Given the description of an element on the screen output the (x, y) to click on. 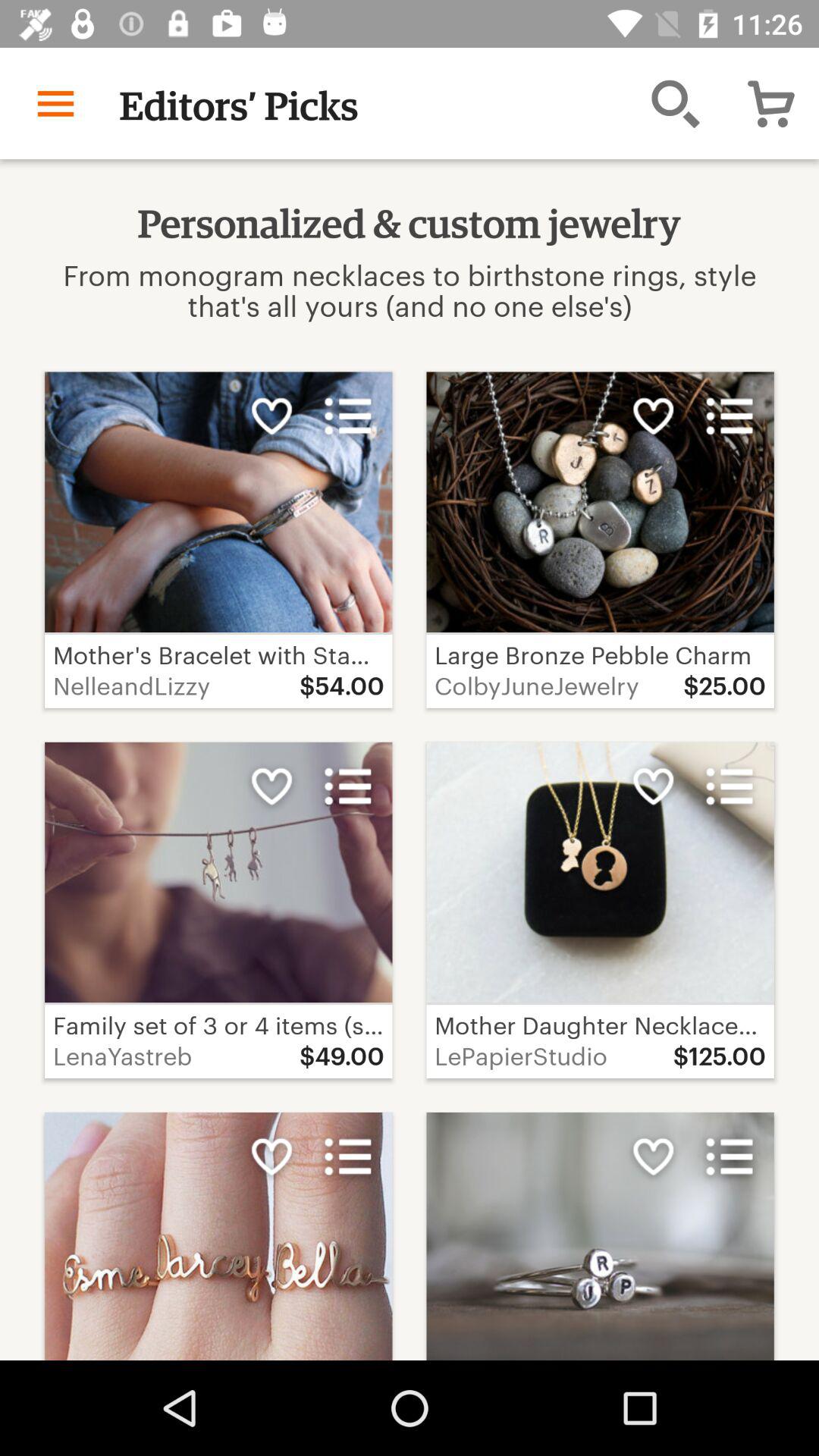
click on the last right image (219, 1235)
click on first image in second row from left side (219, 910)
click on the button which is left side of the cart (675, 103)
click menu button on the second left image from top (347, 786)
click the button below the text 5400 on the web page (347, 786)
select the image on the bottom left corner of the web page (219, 1235)
click on favorite symbol of first image in third row from right side (653, 1156)
